Given the description of an element on the screen output the (x, y) to click on. 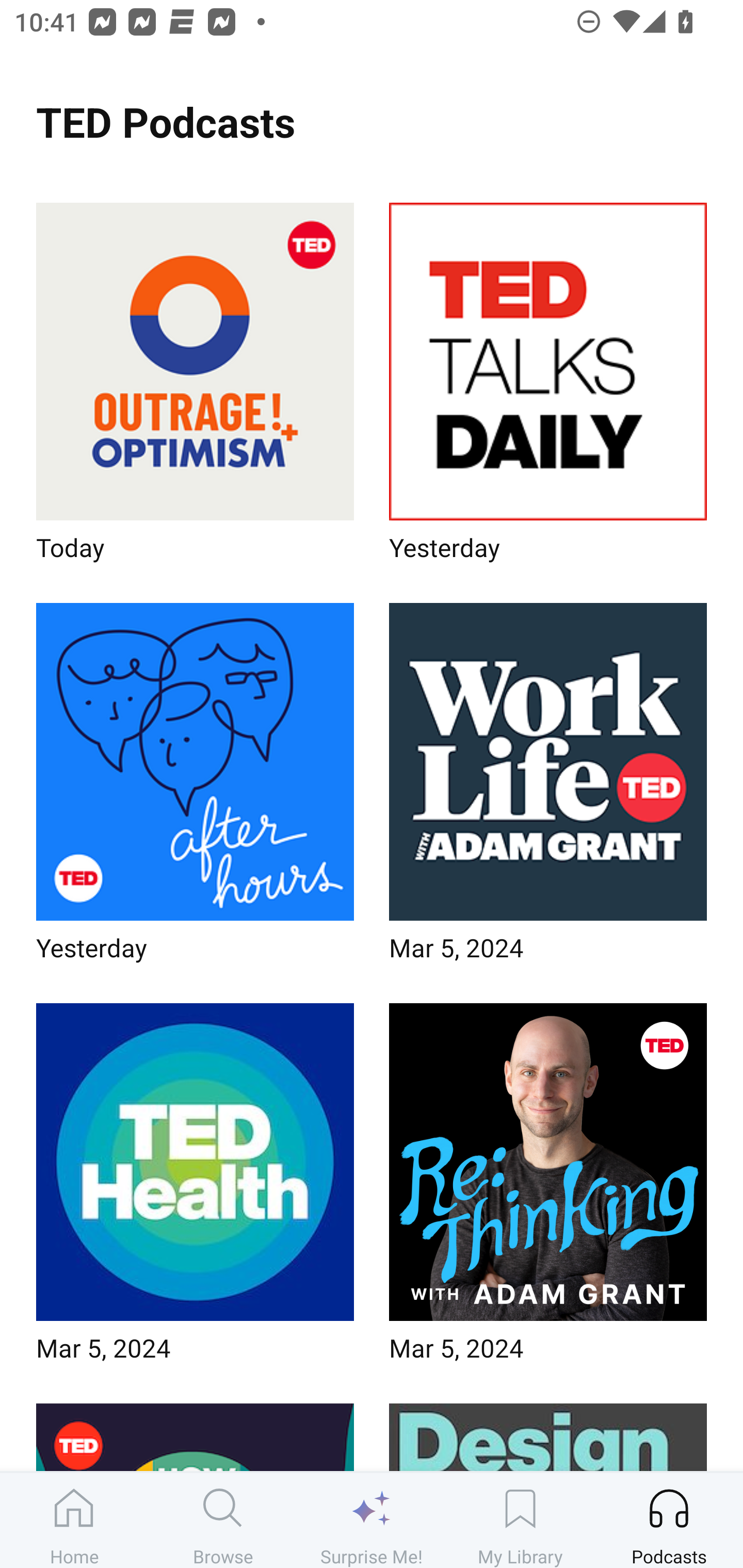
Today (194, 387)
Yesterday (547, 387)
Yesterday (194, 788)
Mar 5, 2024 (547, 788)
Mar 5, 2024 (194, 1189)
Mar 5, 2024 (547, 1189)
Home (74, 1520)
Browse (222, 1520)
Surprise Me! (371, 1520)
My Library (519, 1520)
Podcasts (668, 1520)
